Given the description of an element on the screen output the (x, y) to click on. 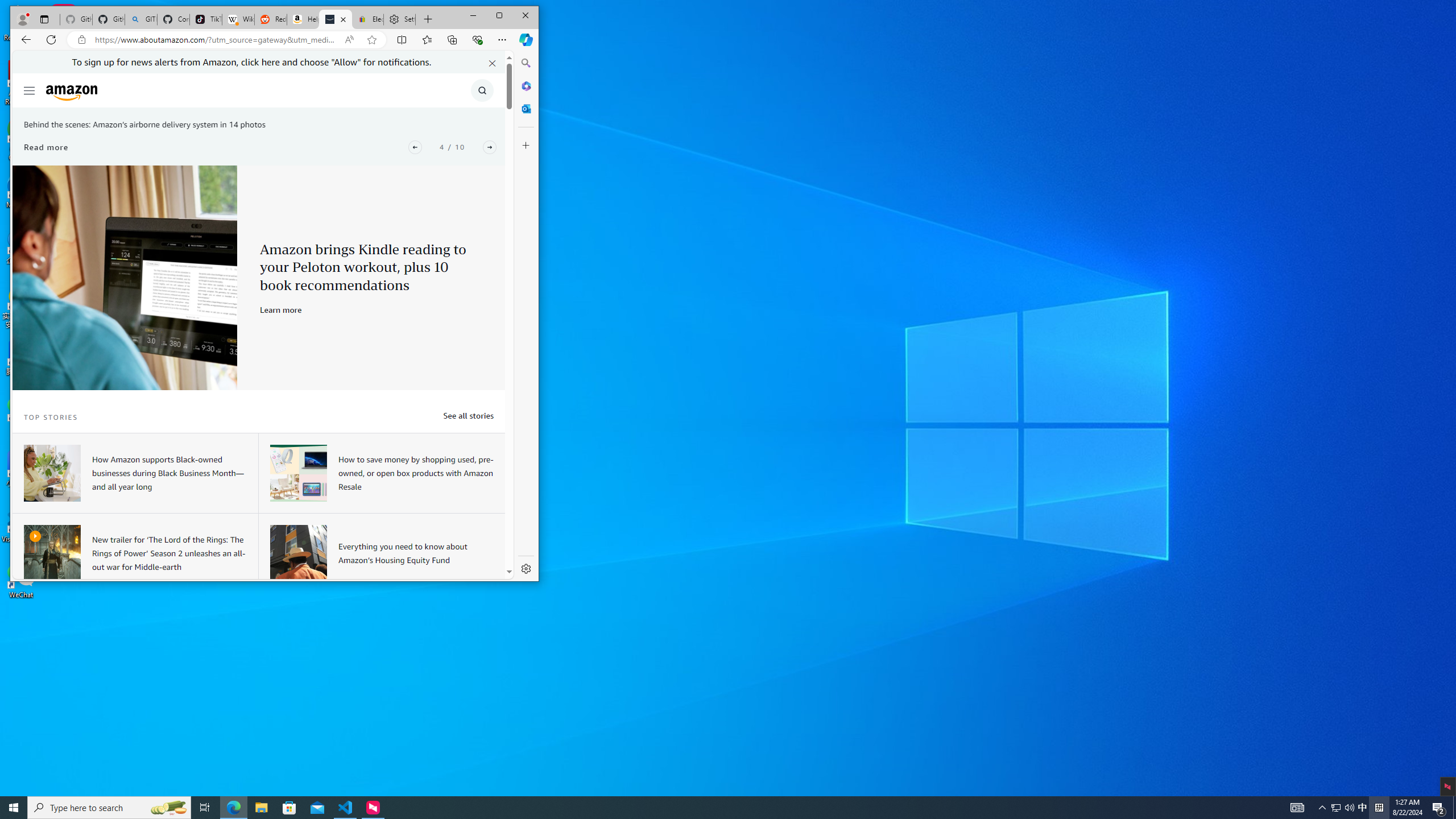
Side bar (525, 315)
Peloton x Kindle (125, 277)
User Promoted Notification Area (1342, 807)
Minimize (473, 15)
Add this page to favorites (Ctrl+D) (371, 39)
Settings (1335, 807)
Split screen (399, 19)
Visual Studio Code - 1 running window (401, 39)
Class: flickity-button-icon (345, 807)
About Amazon (489, 146)
Learn more (335, 19)
Class: burger-menu (280, 309)
